Given the description of an element on the screen output the (x, y) to click on. 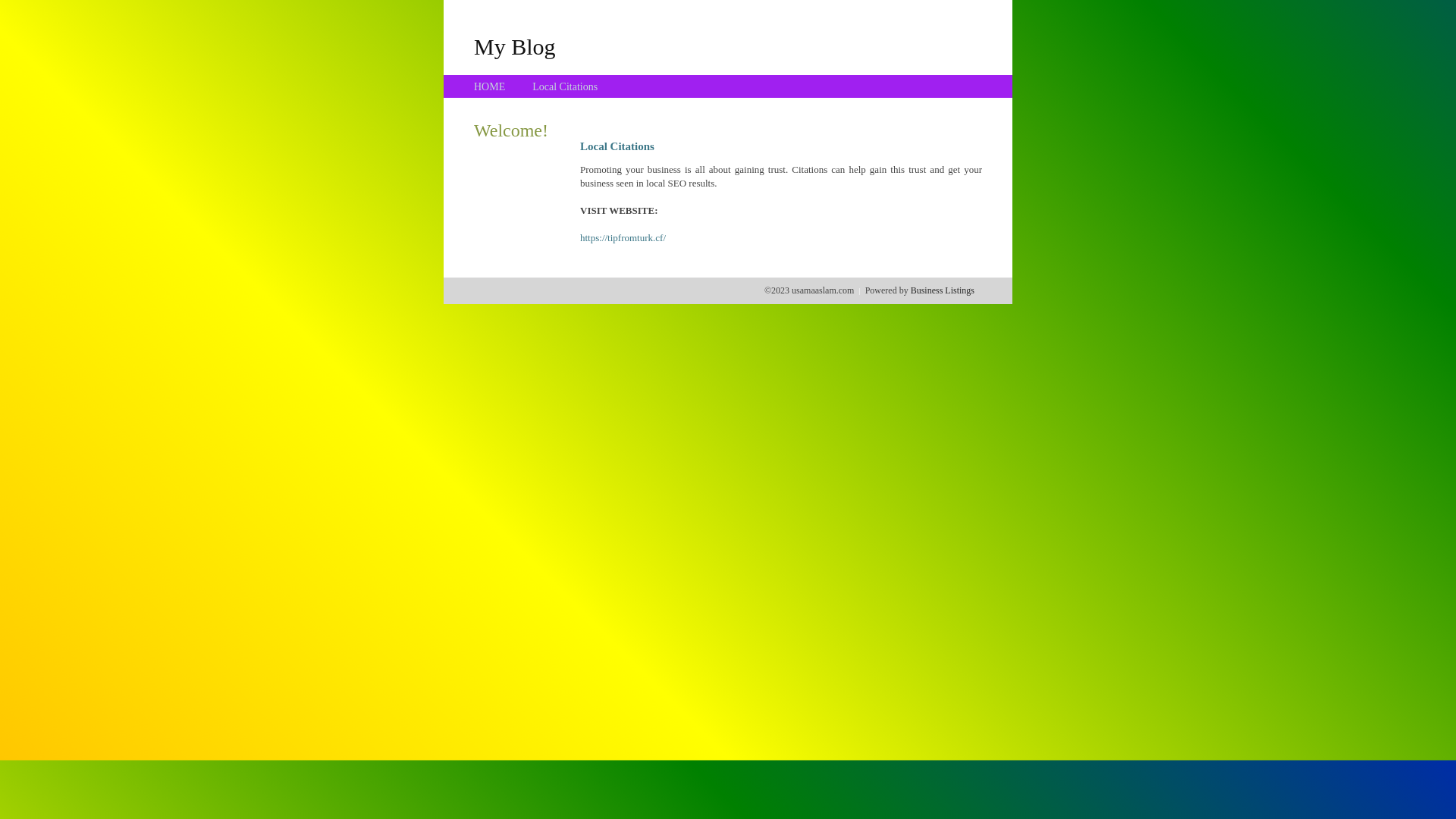
HOME Element type: text (489, 86)
Local Citations Element type: text (564, 86)
Business Listings Element type: text (942, 290)
https://tipfromturk.cf/ Element type: text (622, 237)
My Blog Element type: text (514, 46)
